Given the description of an element on the screen output the (x, y) to click on. 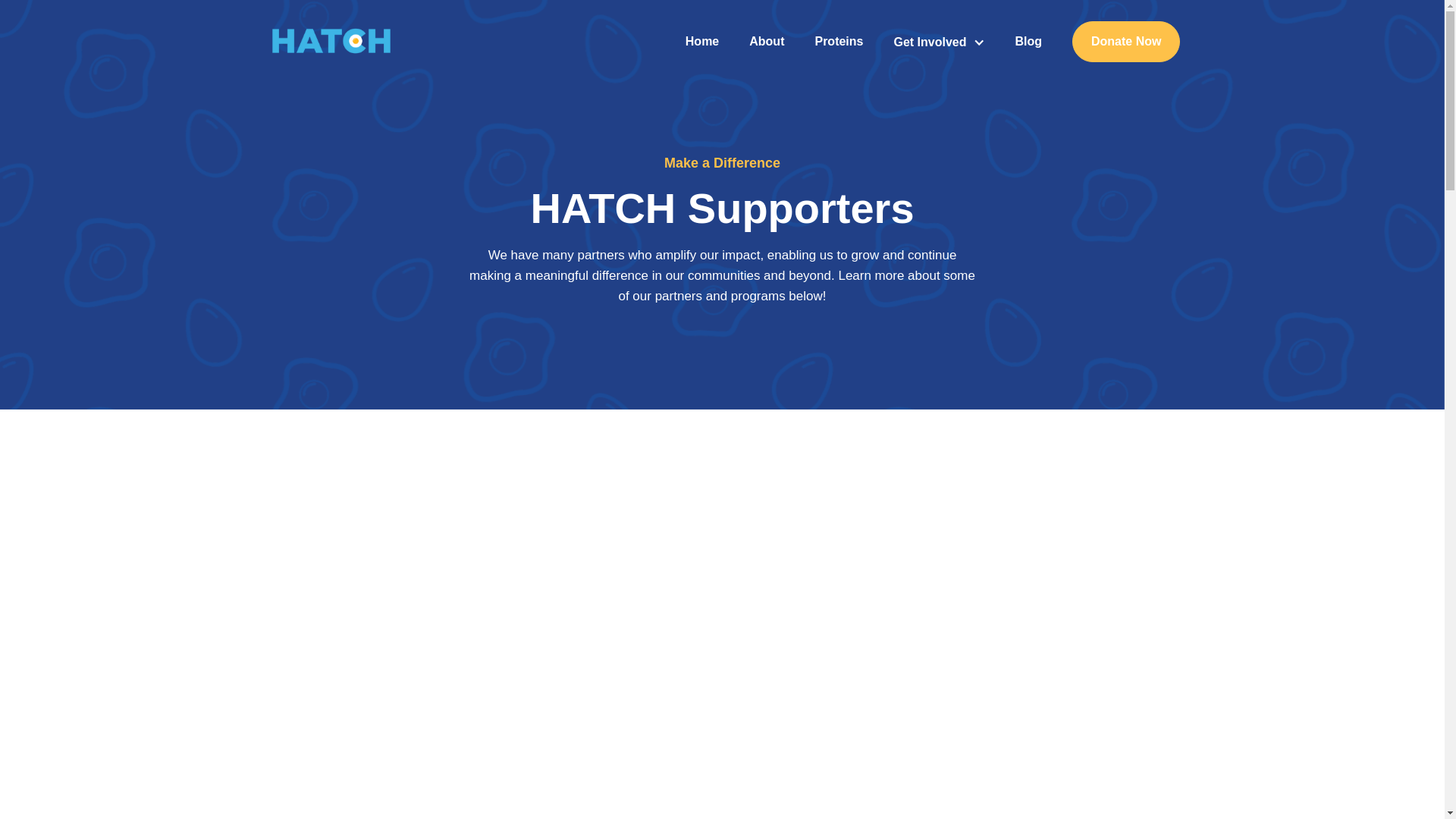
Home (702, 41)
Proteins (838, 41)
Donate Now (1125, 41)
Blog (1028, 41)
About (766, 41)
